Given the description of an element on the screen output the (x, y) to click on. 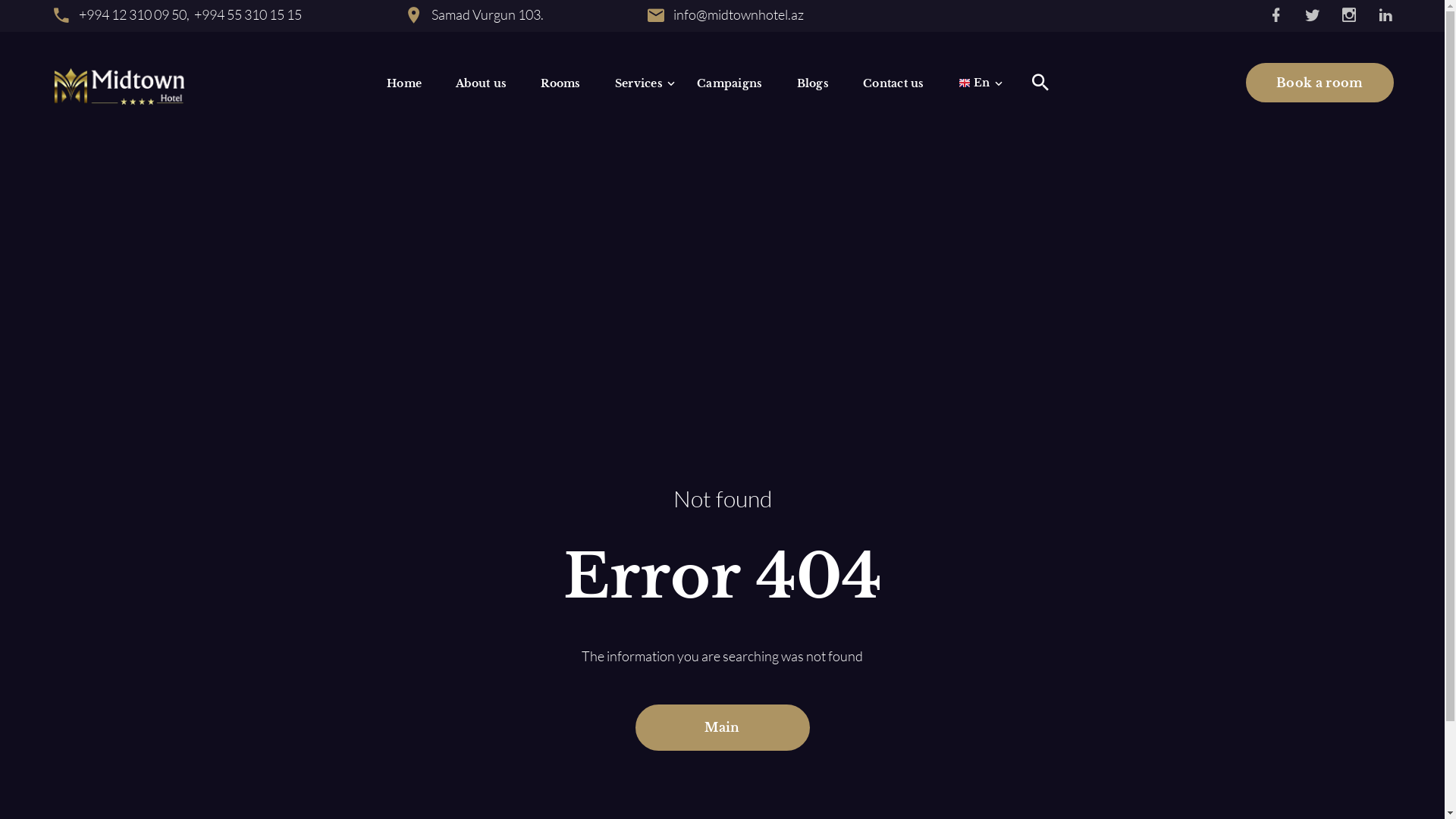
Campaigns Element type: text (729, 81)
Blogs Element type: text (812, 81)
Home Element type: text (403, 81)
Rooms Element type: text (560, 81)
Samad Vurgun 103. Element type: text (487, 14)
Main Element type: text (722, 727)
info@midtownhotel.az Element type: text (737, 14)
+994 55 310 15 15 Element type: text (247, 14)
+994 12 310 09 50 Element type: text (132, 14)
About us Element type: text (480, 81)
Services Element type: text (638, 81)
Contact us Element type: text (893, 81)
Book a room Element type: text (1319, 82)
En Element type: text (974, 81)
